Given the description of an element on the screen output the (x, y) to click on. 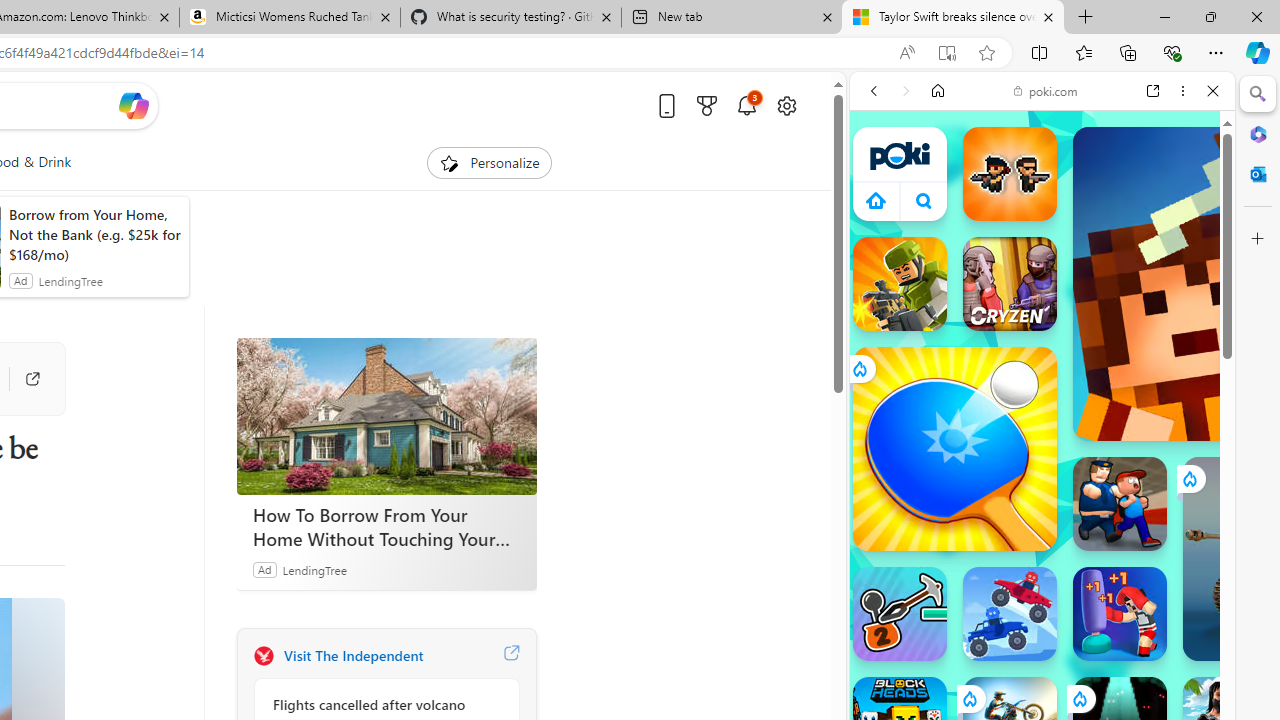
Io Games (1042, 616)
Ping Pong Go! (954, 448)
Shooting Games (1042, 519)
Class: aprWdaSScyiJf4Jvmsx9 (875, 200)
Punch Legend Simulator Punch Legend Simulator (1119, 613)
Show More Shooting Games (1164, 521)
poki.com (1046, 90)
